Given the description of an element on the screen output the (x, y) to click on. 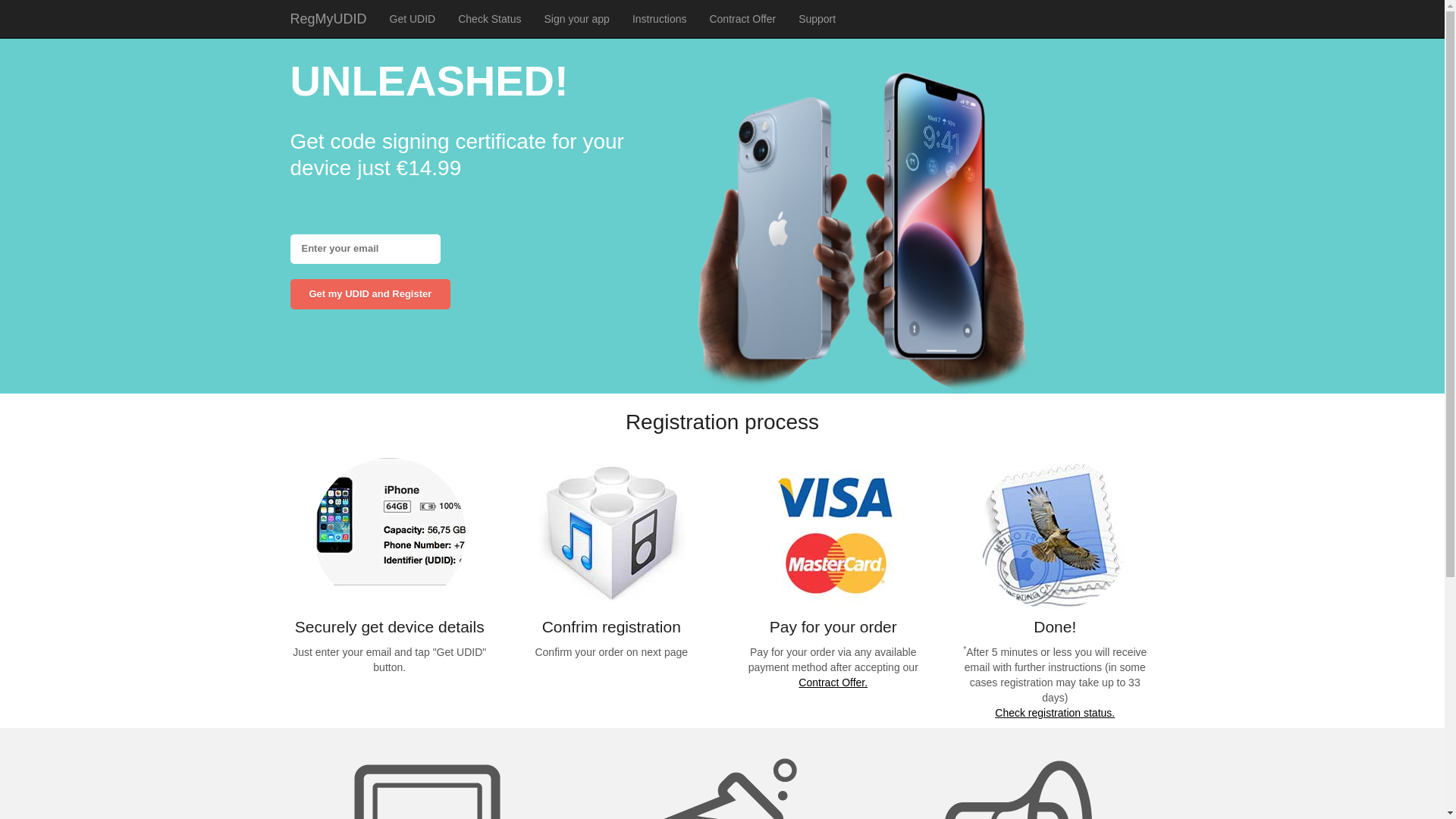
RegMyUDID Element type: text (328, 18)
Get UDID Element type: text (412, 18)
Check registration status. Element type: text (1054, 712)
Get my UDID and Register Element type: text (369, 294)
Check Status Element type: text (489, 18)
Instructions Element type: text (659, 18)
Contract Offer Element type: text (742, 18)
Contract Offer. Element type: text (832, 682)
Sign your app Element type: text (576, 18)
Support Element type: text (817, 18)
